Given the description of an element on the screen output the (x, y) to click on. 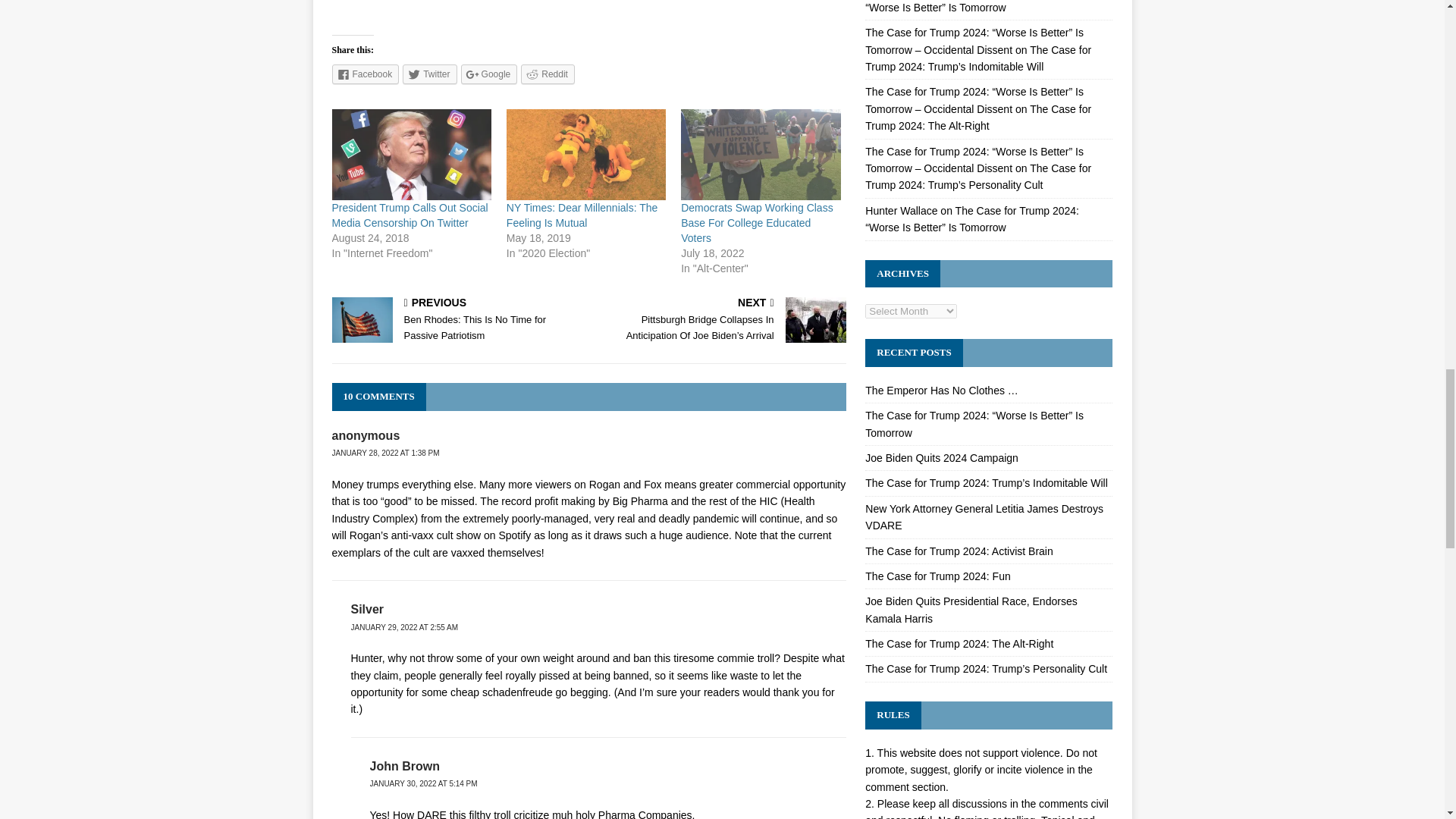
Click to share on Twitter (430, 74)
Twitter (430, 74)
Google (489, 74)
Click to share on Facebook (364, 74)
Reddit (548, 74)
President Trump Calls Out Social Media Censorship On Twitter (409, 215)
Click to share on Reddit (548, 74)
Facebook (364, 74)
